Given the description of an element on the screen output the (x, y) to click on. 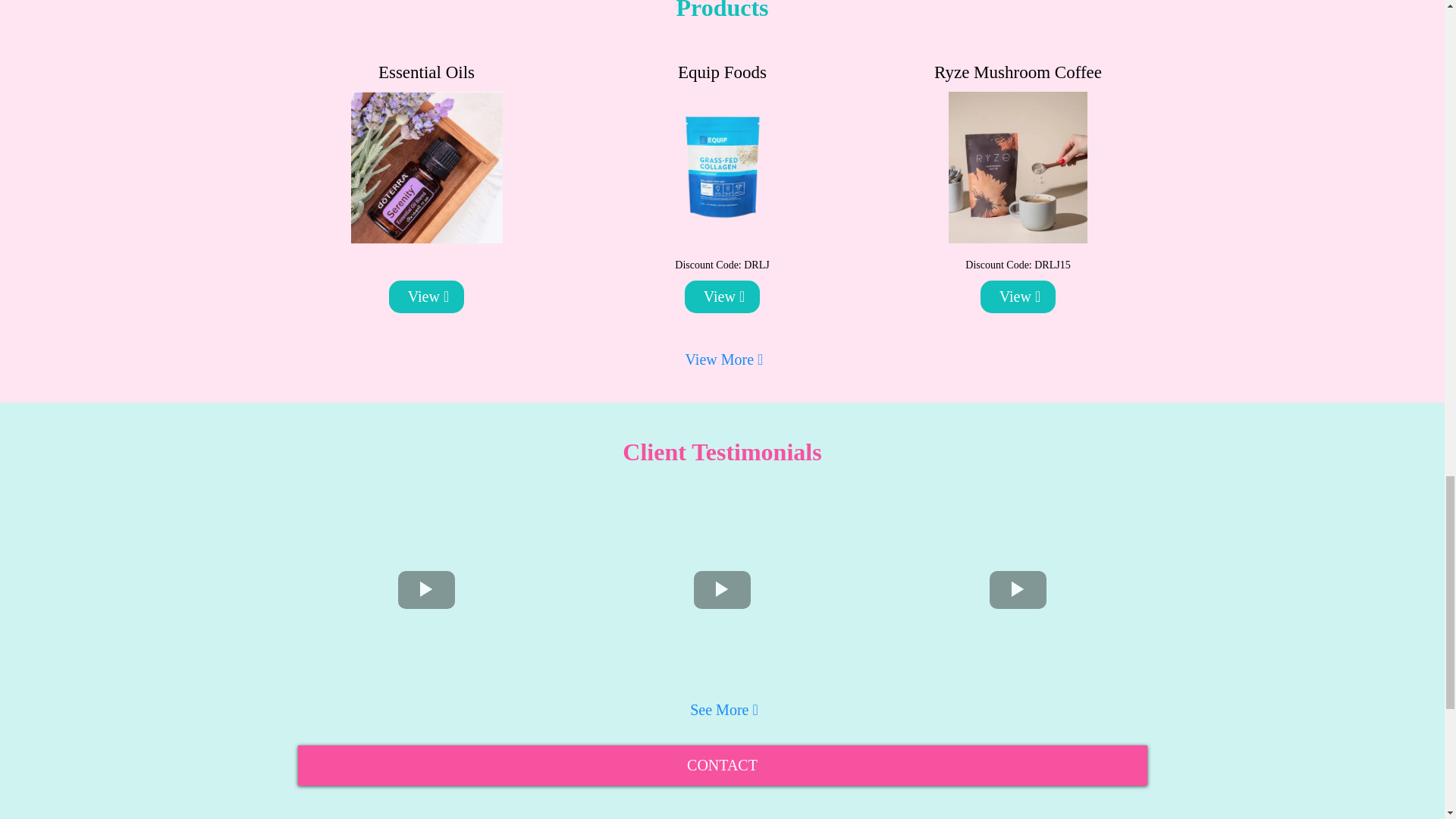
See More (721, 710)
View (1017, 296)
View (426, 296)
View More (721, 359)
CONTACT (722, 765)
View (722, 296)
